Given the description of an element on the screen output the (x, y) to click on. 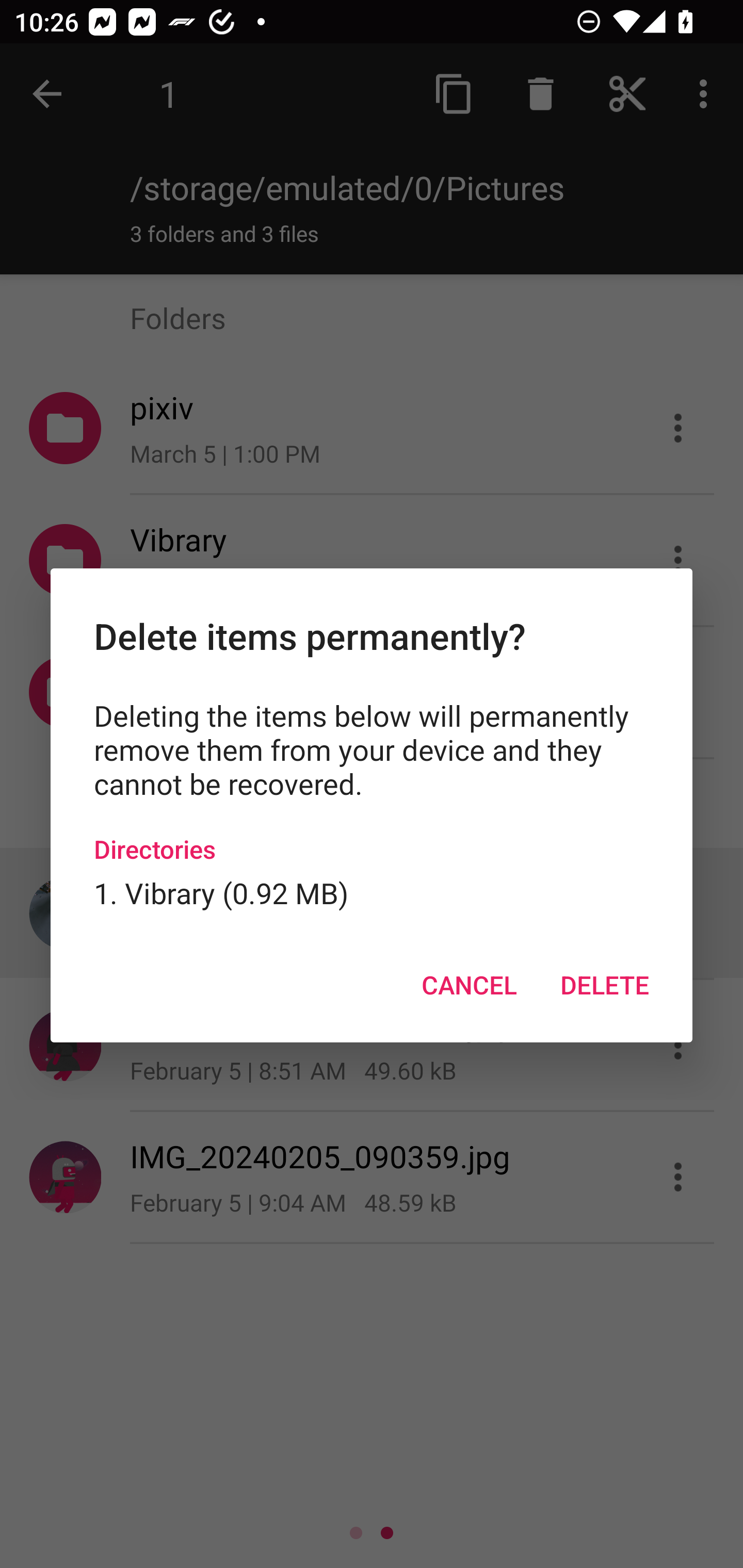
CANCEL (468, 984)
DELETE (603, 984)
